Given the description of an element on the screen output the (x, y) to click on. 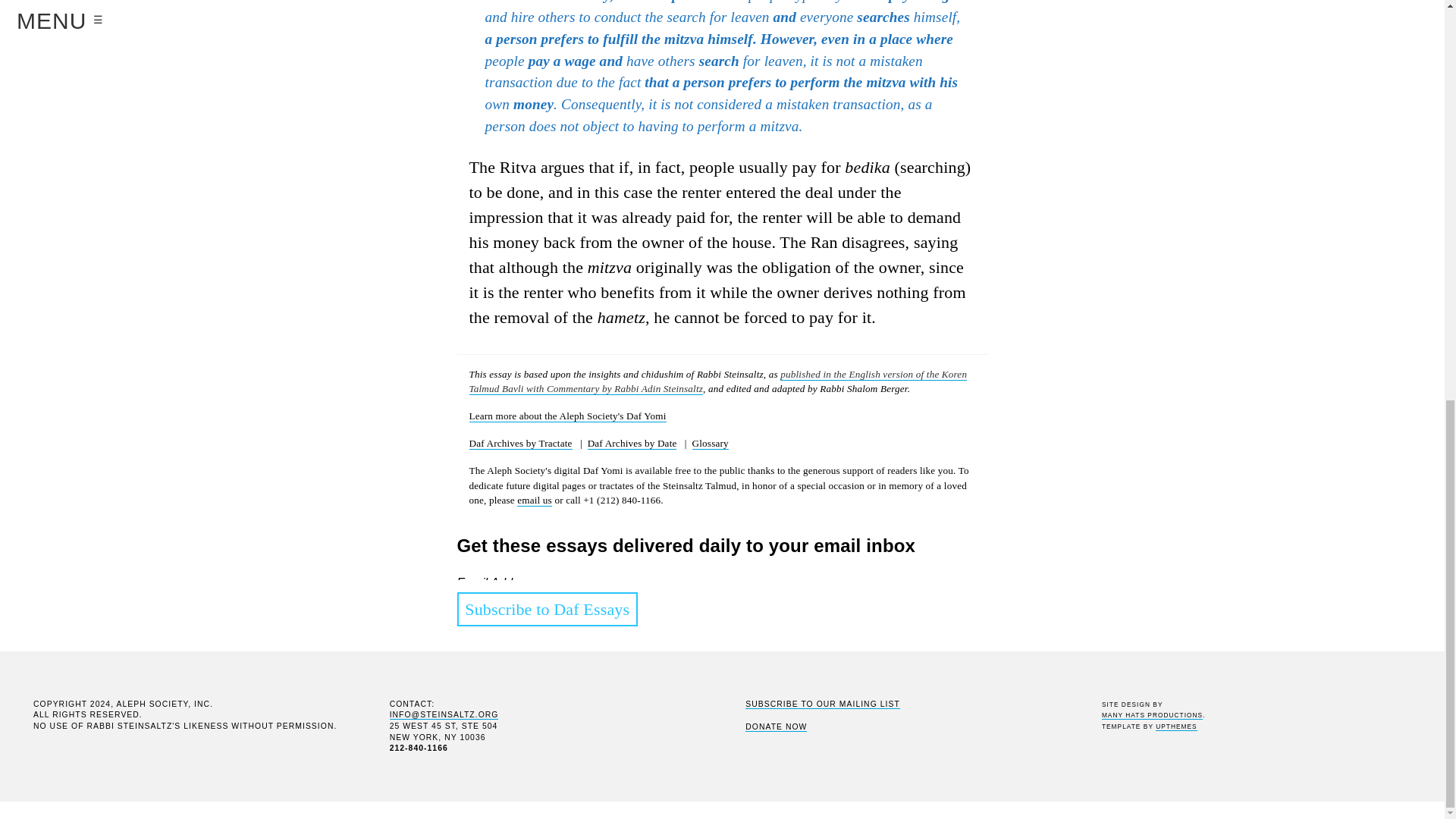
email us (533, 500)
Learn more about the Aleph Society's Daf Yomi (566, 416)
Daf Archives by Date (632, 443)
Glossary (711, 443)
Subscribe to Daf Essays (547, 609)
Daf Archives by Tractate (520, 443)
Subscribe (490, 793)
